Given the description of an element on the screen output the (x, y) to click on. 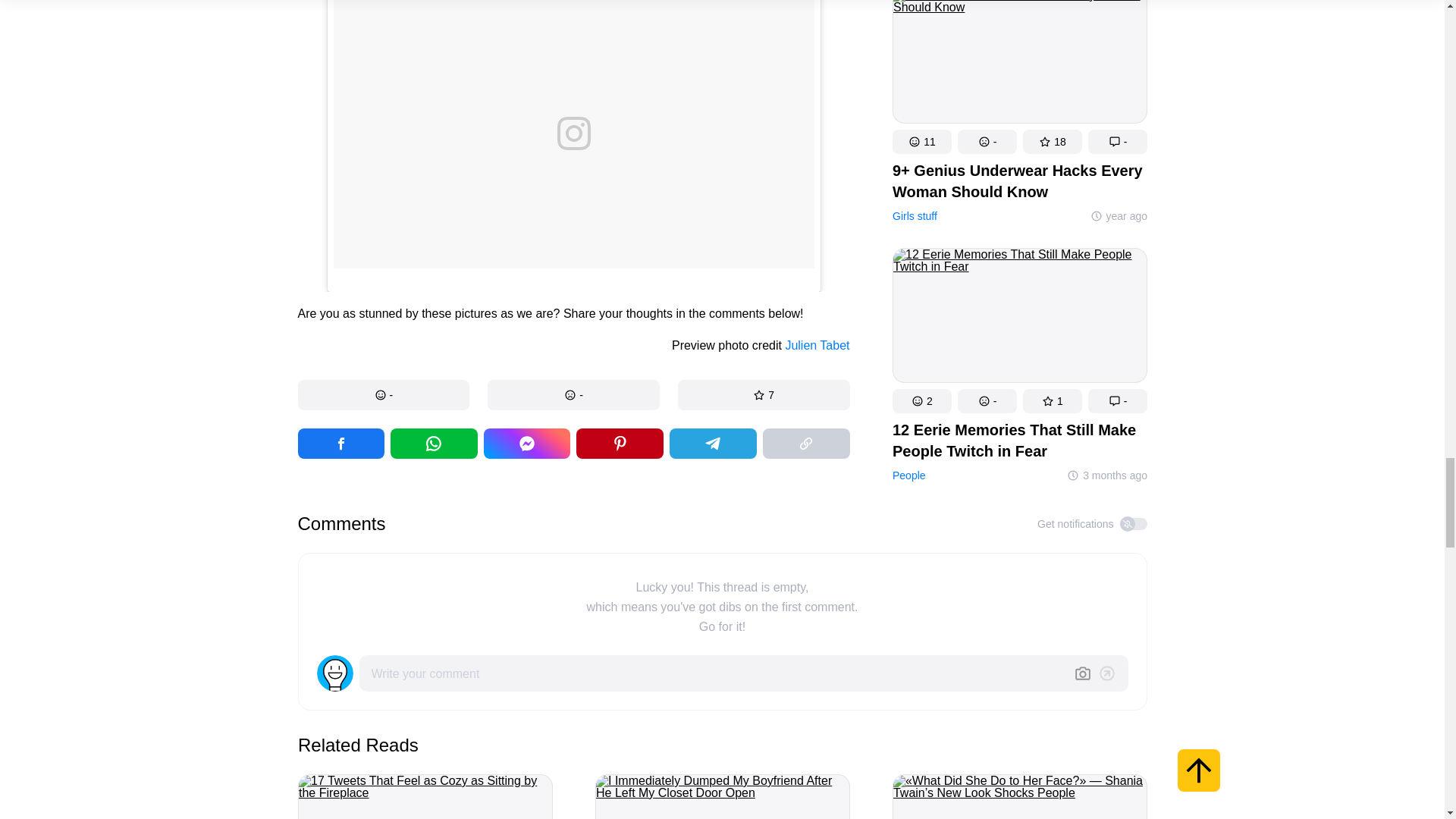
7 (764, 395)
Share on WhatsApp (433, 443)
- (382, 395)
- (573, 395)
Share on Facebook (526, 443)
Copy link (806, 443)
Share on Telegram (713, 443)
17 Tweets That Feel as Cozy as Sitting by the Fireplace (424, 796)
Julien Tabet (816, 345)
Share on Pinterest (619, 443)
Share on Facebook (340, 443)
